Given the description of an element on the screen output the (x, y) to click on. 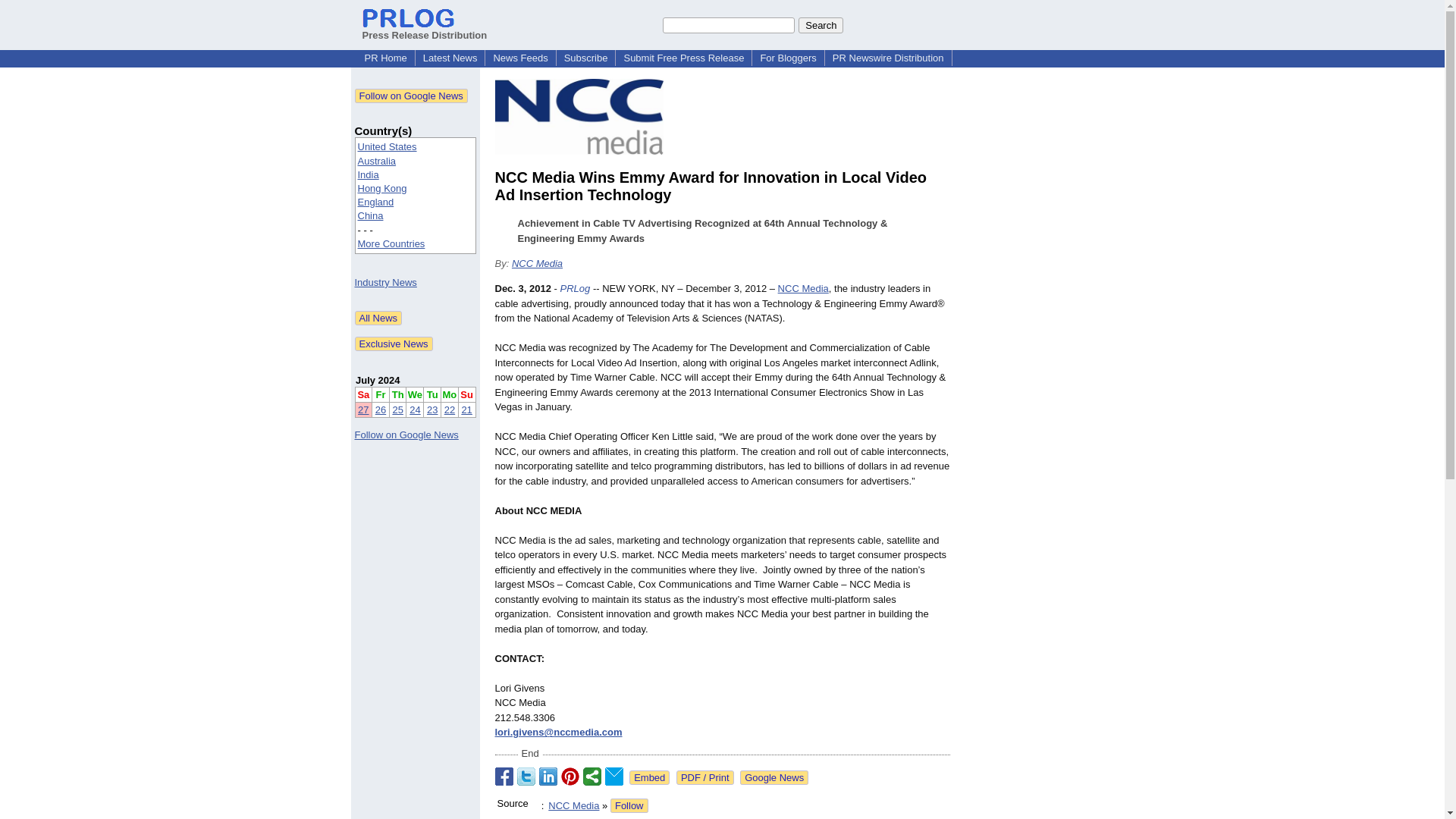
China (371, 215)
PRLog (575, 288)
Embed (648, 777)
Industry News (385, 282)
India (368, 174)
Share on StumbleUpon, Digg, etc (590, 776)
PR Newswire Distribution (888, 57)
Australia (377, 161)
NCC Media (537, 263)
All News (379, 318)
Search (820, 24)
Exclusive News (393, 343)
NCC Media (802, 288)
More Countries (391, 243)
